Given the description of an element on the screen output the (x, y) to click on. 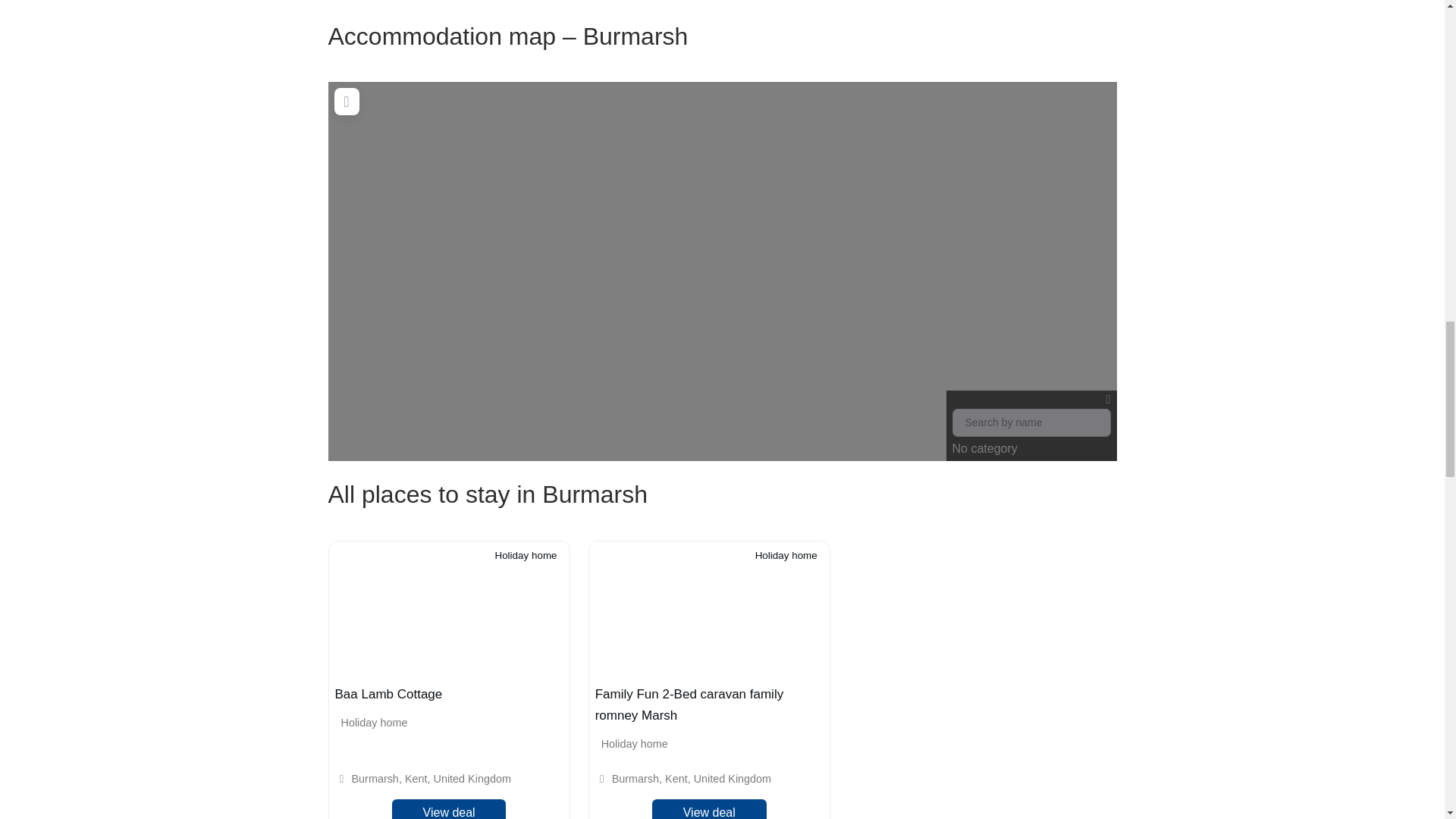
Family Fun 2-Bed caravan family romney Marsh (689, 704)
View: Family Fun 2-Bed caravan family romney Marsh (689, 704)
No category (1031, 425)
View: Baa Lamb Cottage (388, 694)
View deal (448, 809)
hit enter to search (1031, 422)
Baa Lamb Cottage (388, 694)
